Given the description of an element on the screen output the (x, y) to click on. 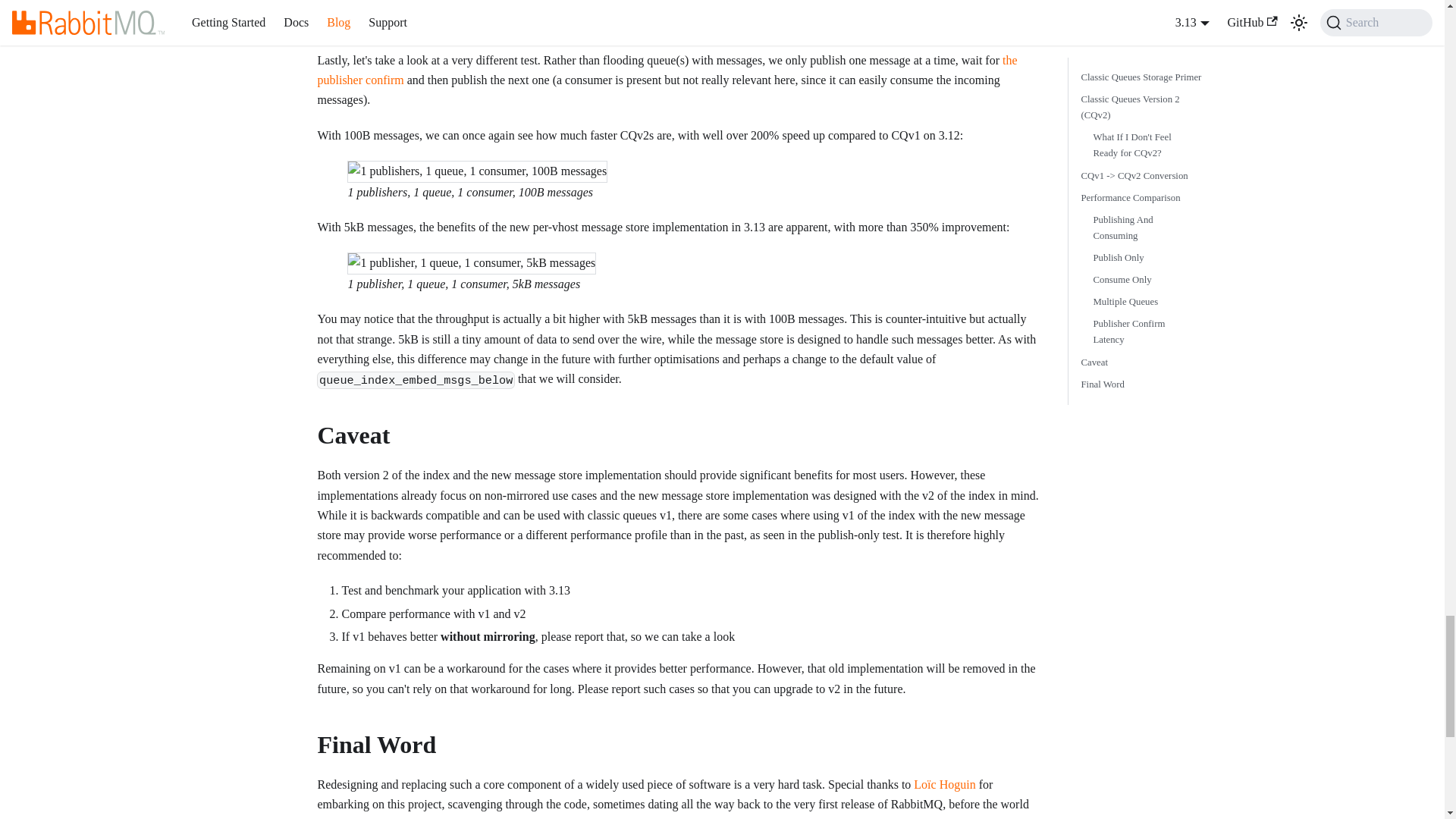
the publisher confirm (666, 70)
